Given the description of an element on the screen output the (x, y) to click on. 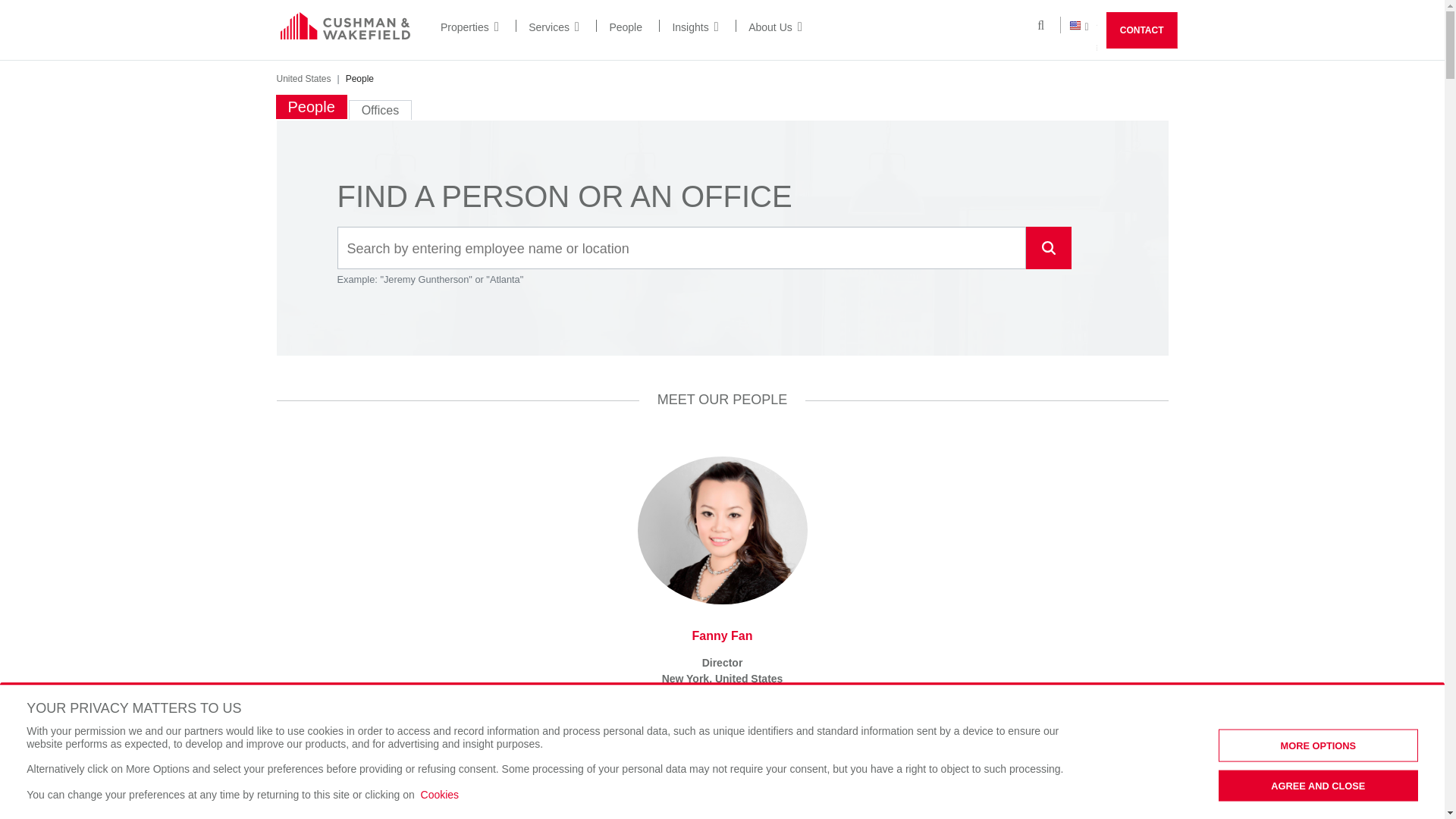
Services (553, 27)
Insert a query. Press enter to send (681, 248)
Properties (470, 27)
